Given the description of an element on the screen output the (x, y) to click on. 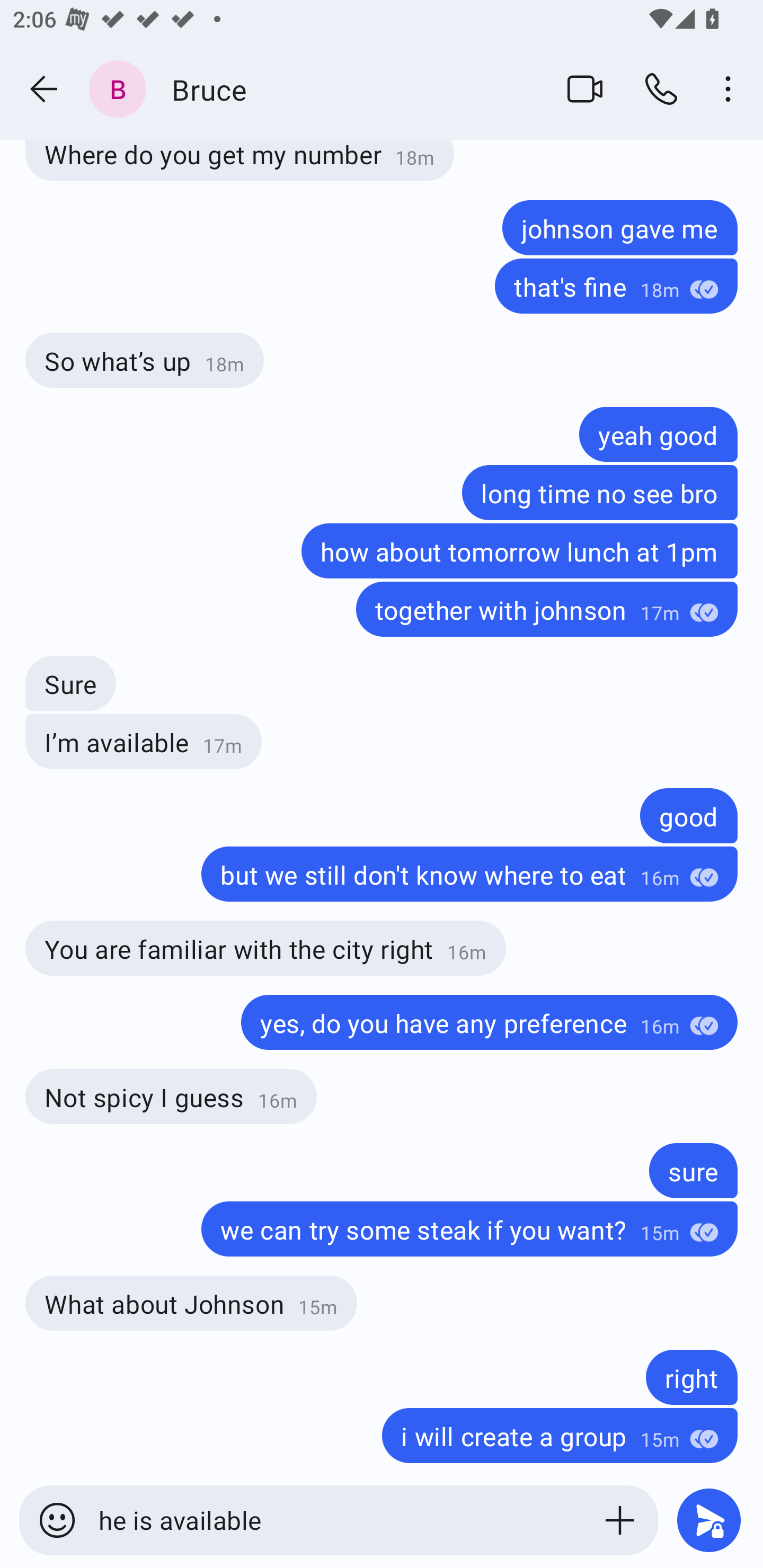
Send message (708, 1520)
